Given the description of an element on the screen output the (x, y) to click on. 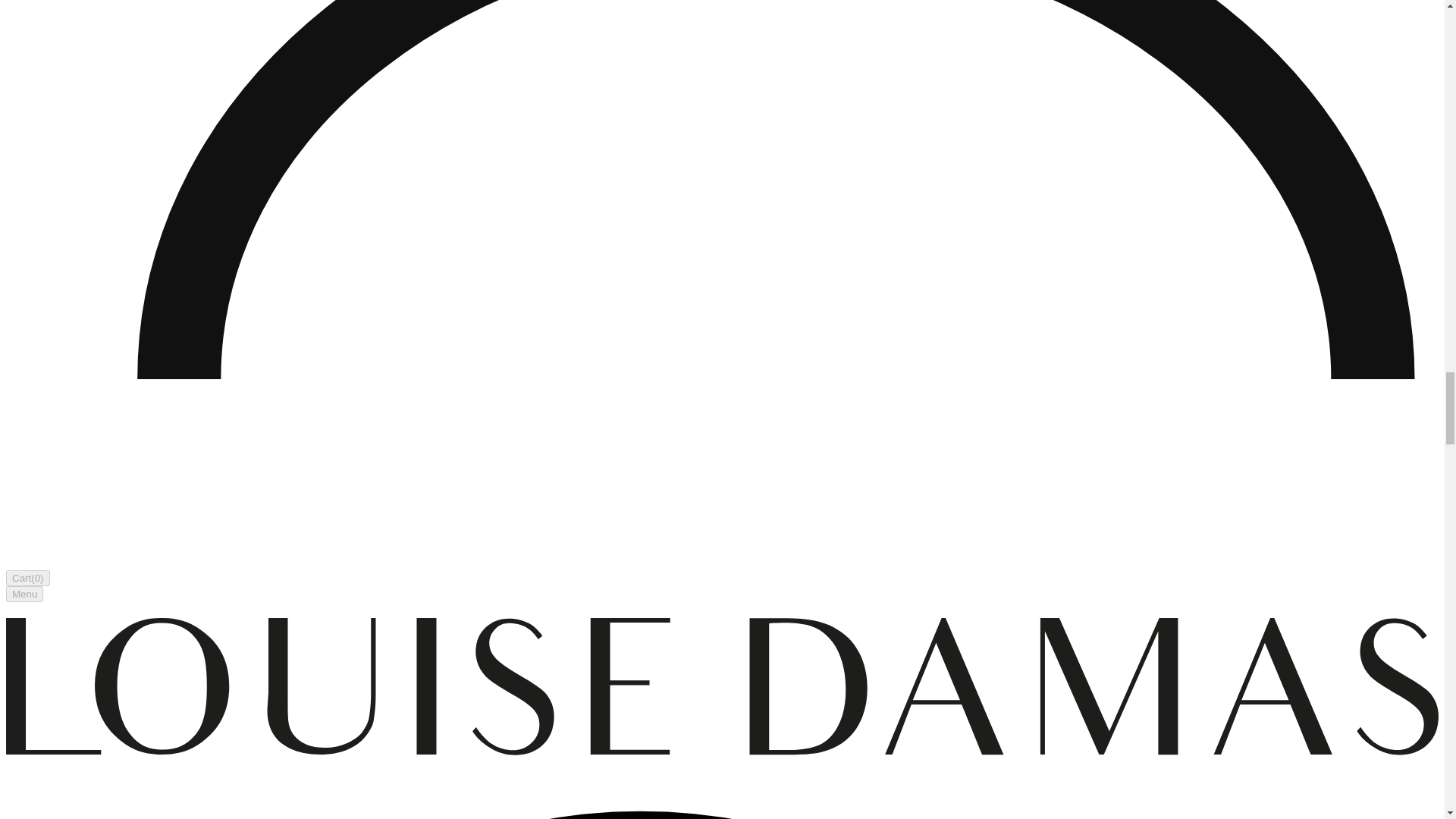
Menu (24, 593)
